Given the description of an element on the screen output the (x, y) to click on. 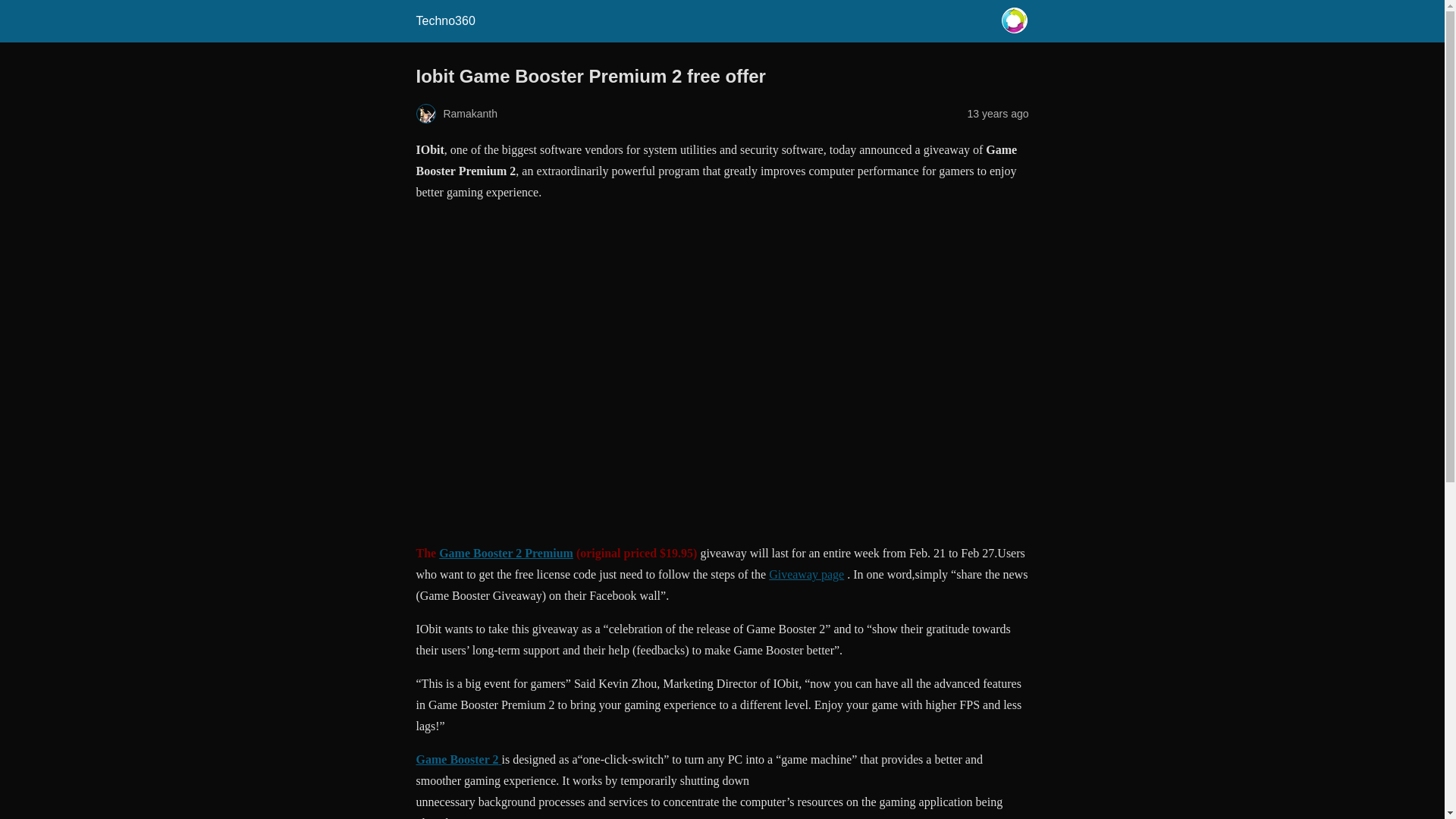
Game Booster 2 (457, 758)
Game Booster 2 Premium (627, 369)
Game Booster 2 Premium (506, 553)
Techno360 (444, 20)
Giveaway page (806, 574)
